Given the description of an element on the screen output the (x, y) to click on. 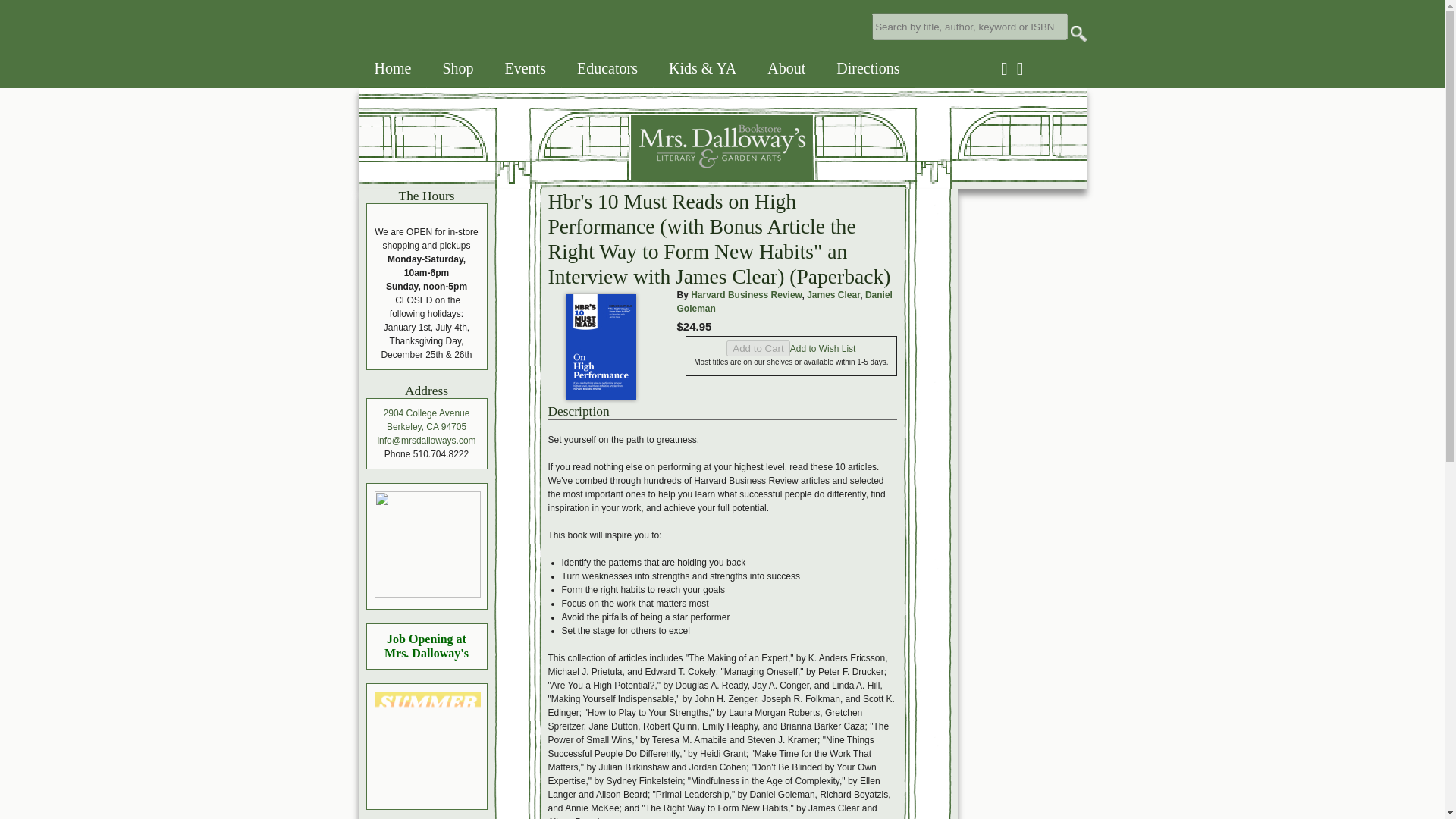
Enter the terms you wish to search for. (969, 26)
Directions (867, 68)
Home (585, 176)
Daniel Goleman (784, 301)
Educators (607, 68)
James Clear (833, 294)
Harvard Business Review (746, 294)
About (786, 68)
Skip to navigation (21, 0)
Add to Cart (757, 348)
Events (524, 68)
Shop (456, 68)
Home (392, 68)
